Given the description of an element on the screen output the (x, y) to click on. 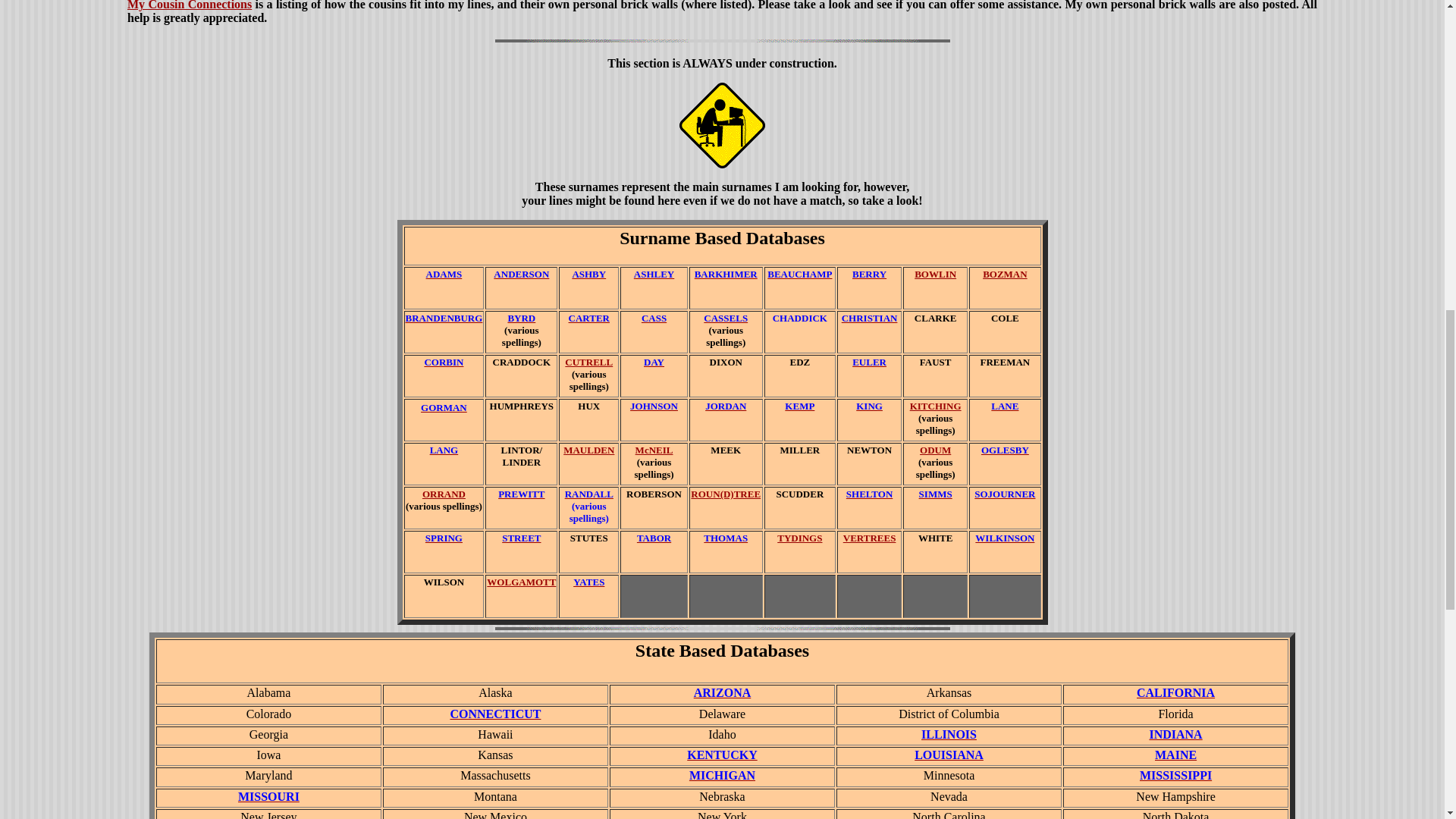
CORBIN (443, 361)
MAULDEN (588, 449)
ASHLEY (653, 273)
KEMP (798, 405)
BARKHIMER (725, 274)
BOWLIN (935, 274)
CASS (654, 317)
BRANDENBURG (442, 317)
DAY (653, 360)
KITCHING (935, 404)
BYRD (520, 317)
My Cousin Connections (189, 5)
ADAMS (444, 273)
ORRAND (443, 492)
BERRY (868, 273)
